Given the description of an element on the screen output the (x, y) to click on. 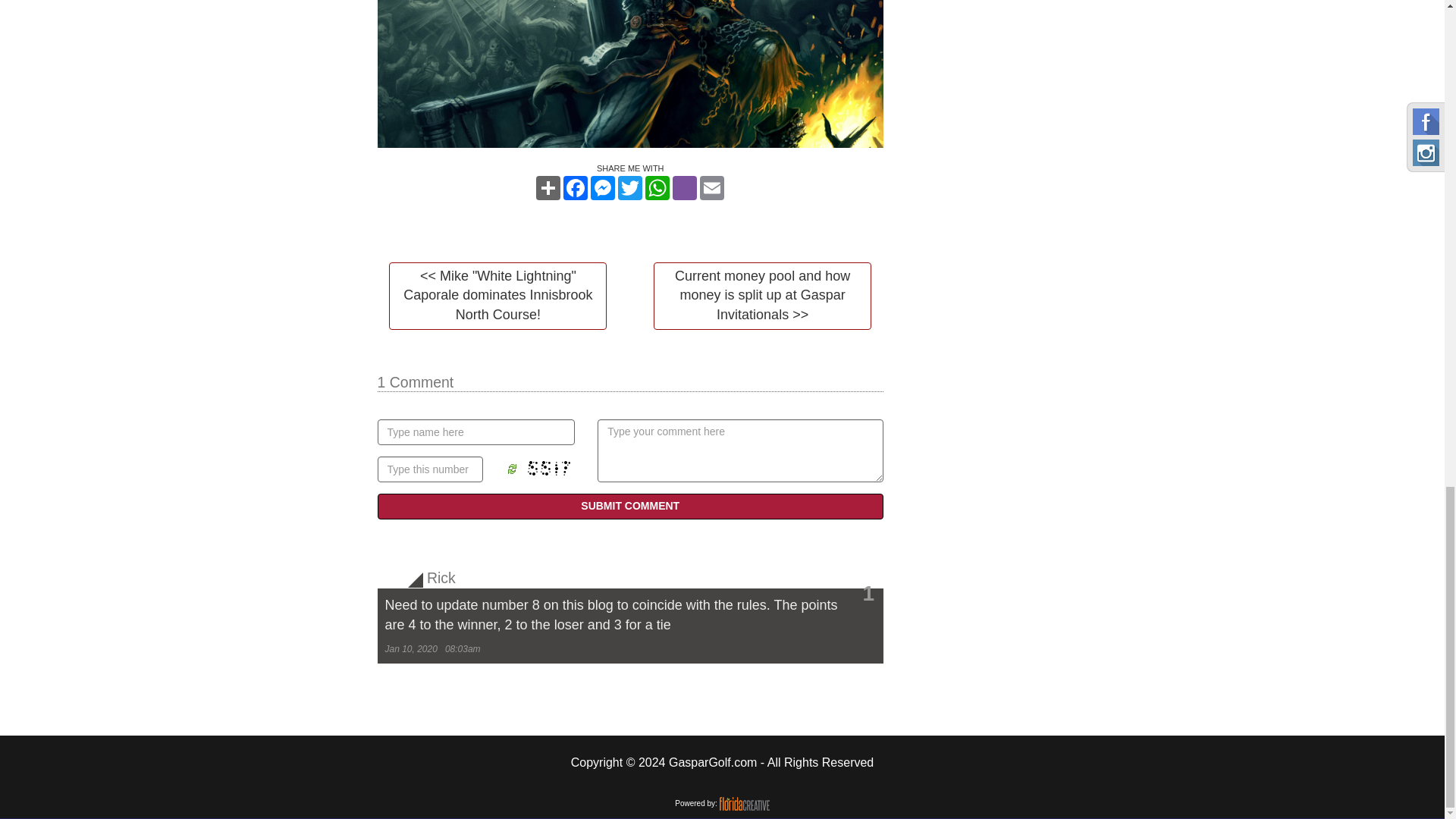
Facebook (575, 187)
Viber (684, 187)
Submit comment (630, 506)
Email (711, 187)
Twitter (629, 187)
Submit comment (630, 506)
Messenger (602, 187)
WhatsApp (657, 187)
